Given the description of an element on the screen output the (x, y) to click on. 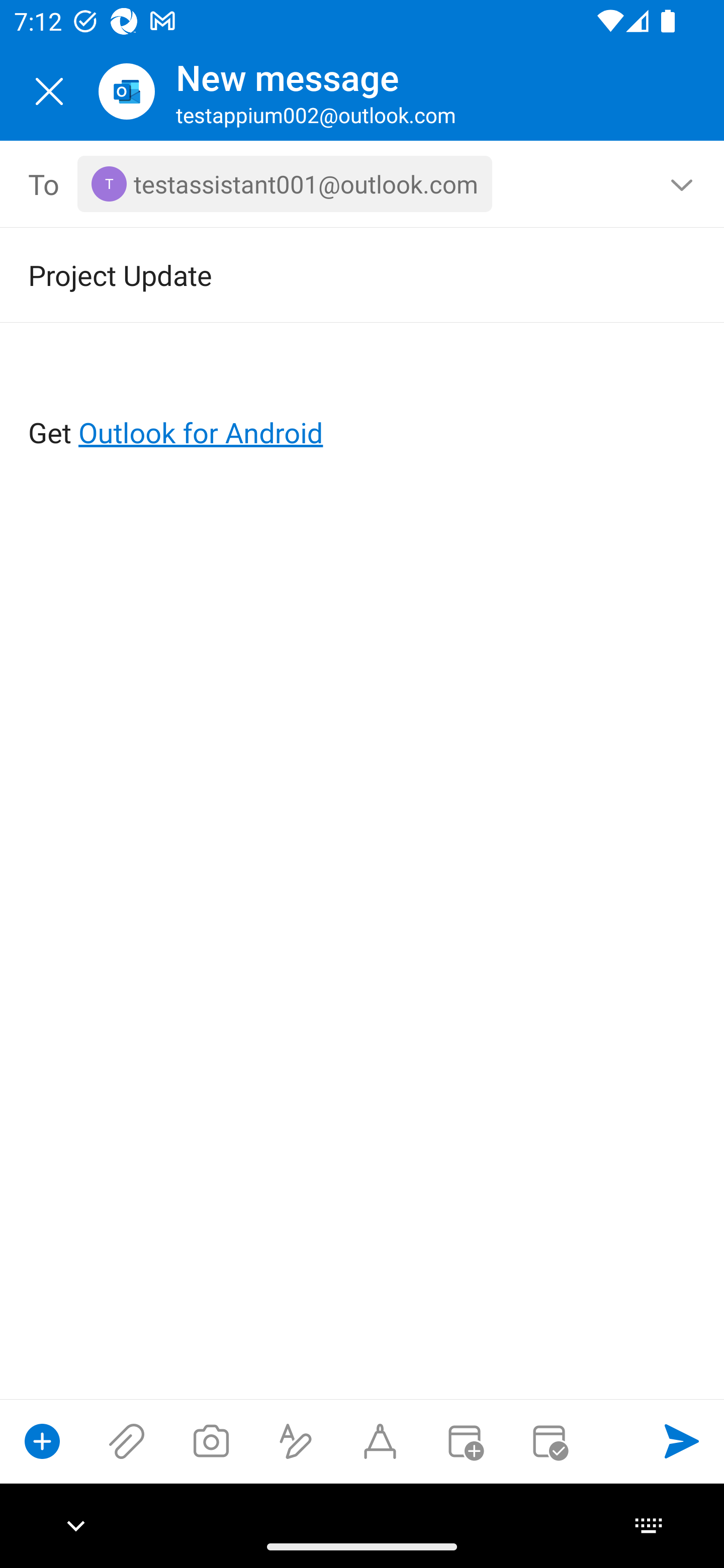
Close (49, 91)
To, 1 recipient <testassistant001@outlook.com> (362, 184)
Project Update (333, 274)


Get Outlook for Android (363, 400)
Show compose options (42, 1440)
Attach files (126, 1440)
Take a photo (210, 1440)
Show formatting options (295, 1440)
Start Ink compose (380, 1440)
Convert to event (464, 1440)
Send availability (548, 1440)
Send (681, 1440)
